Given the description of an element on the screen output the (x, y) to click on. 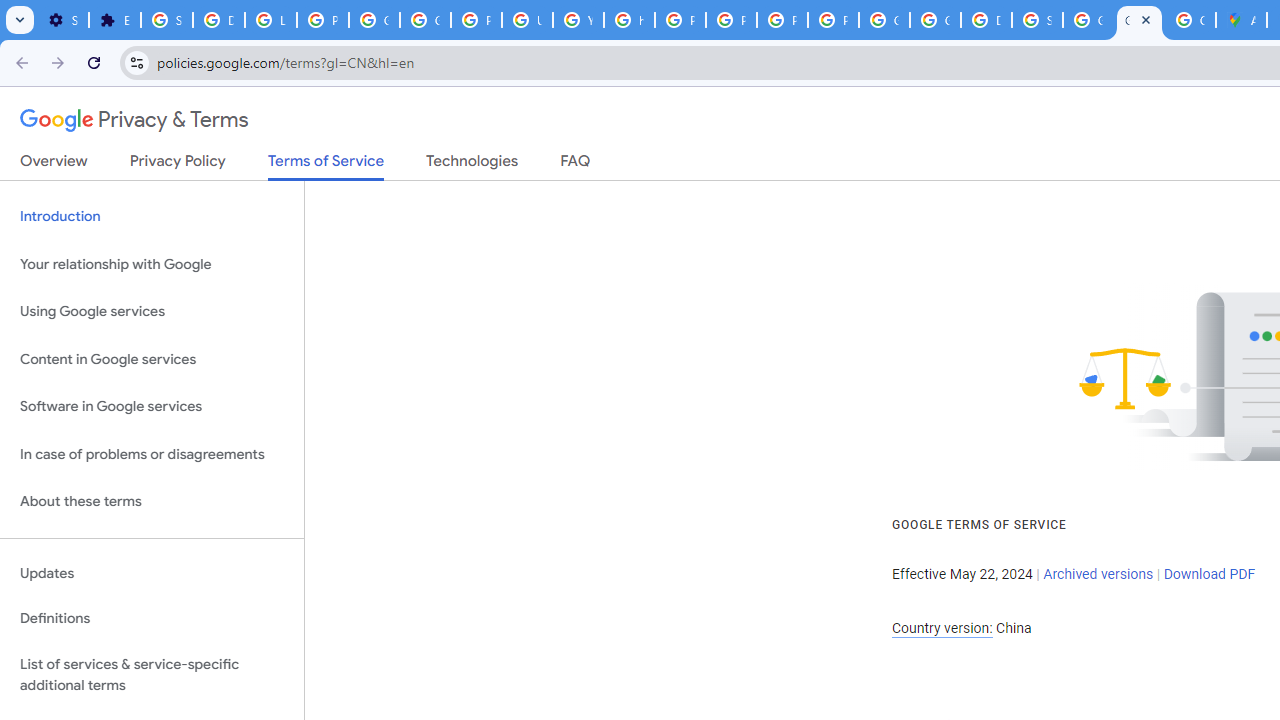
Create your Google Account (1189, 20)
Software in Google services (152, 407)
https://scholar.google.com/ (629, 20)
About these terms (152, 502)
Using Google services (152, 312)
Google Account Help (374, 20)
Your relationship with Google (152, 263)
